Given the description of an element on the screen output the (x, y) to click on. 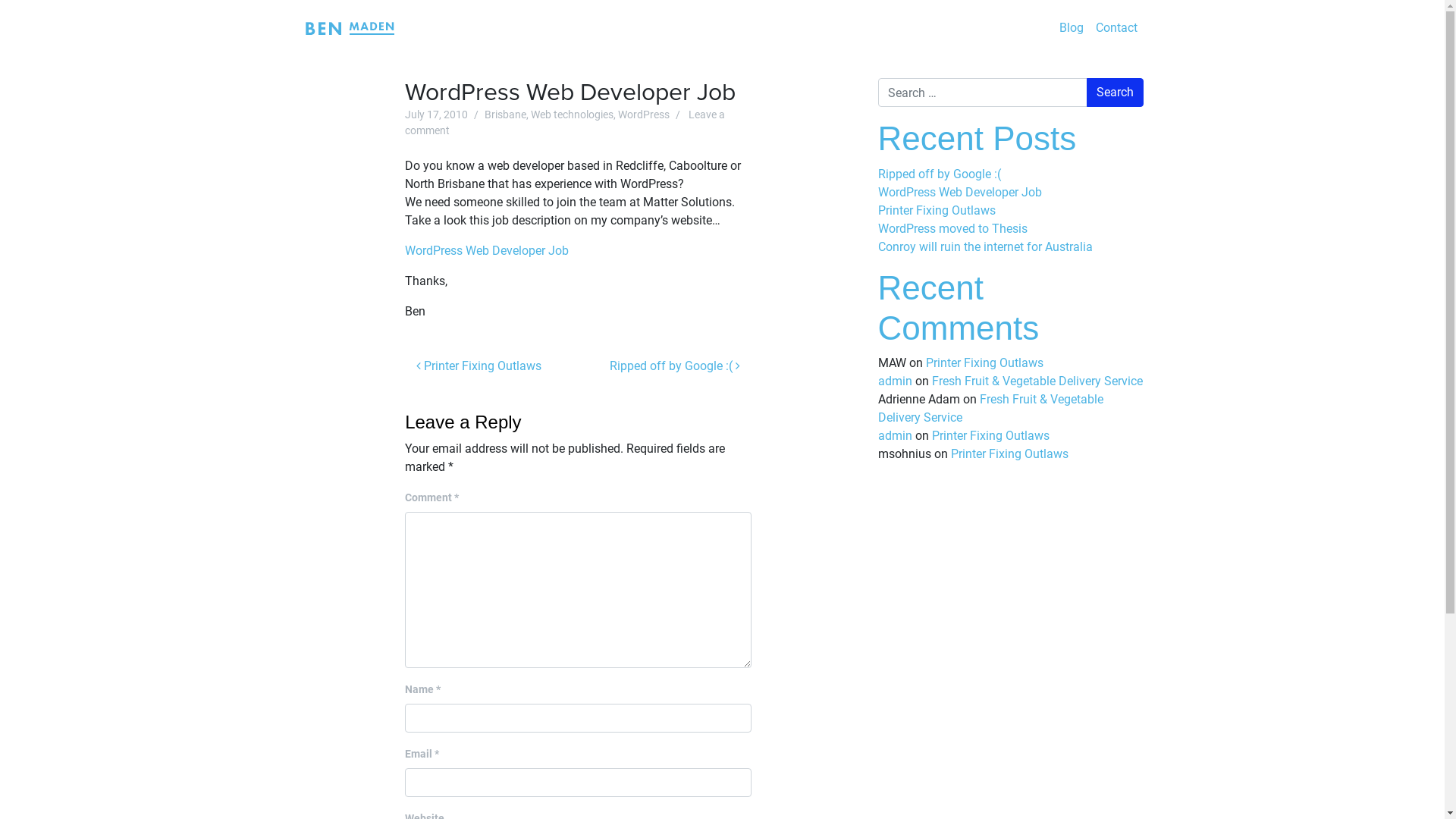
WordPress Web Developer Job Element type: text (959, 192)
Fresh Fruit & Vegetable Delivery Service Element type: text (990, 408)
Conroy will ruin the internet for Australia Element type: text (985, 246)
Printer Fixing Outlaws Element type: text (1009, 453)
Fresh Fruit & Vegetable Delivery Service Element type: text (1036, 380)
Search Element type: text (1113, 92)
Brisbane Element type: text (505, 114)
Contact Element type: text (1115, 27)
admin Element type: text (895, 435)
Ripped off by Google :( Element type: text (939, 173)
Printer Fixing Outlaws Element type: text (990, 435)
Leave a comment Element type: text (564, 122)
WordPress Web Developer Job Element type: text (486, 250)
Web technologies Element type: text (571, 114)
Printer Fixing Outlaws Element type: text (936, 210)
Skip to content Element type: text (1443, 0)
Ripped off by Google :(  Element type: text (674, 365)
admin Element type: text (895, 380)
WordPress moved to Thesis Element type: text (952, 228)
Printer Fixing Outlaws Element type: text (984, 362)
WordPress Element type: text (643, 114)
Blog Element type: text (1070, 27)
 Printer Fixing Outlaws Element type: text (478, 365)
